Given the description of an element on the screen output the (x, y) to click on. 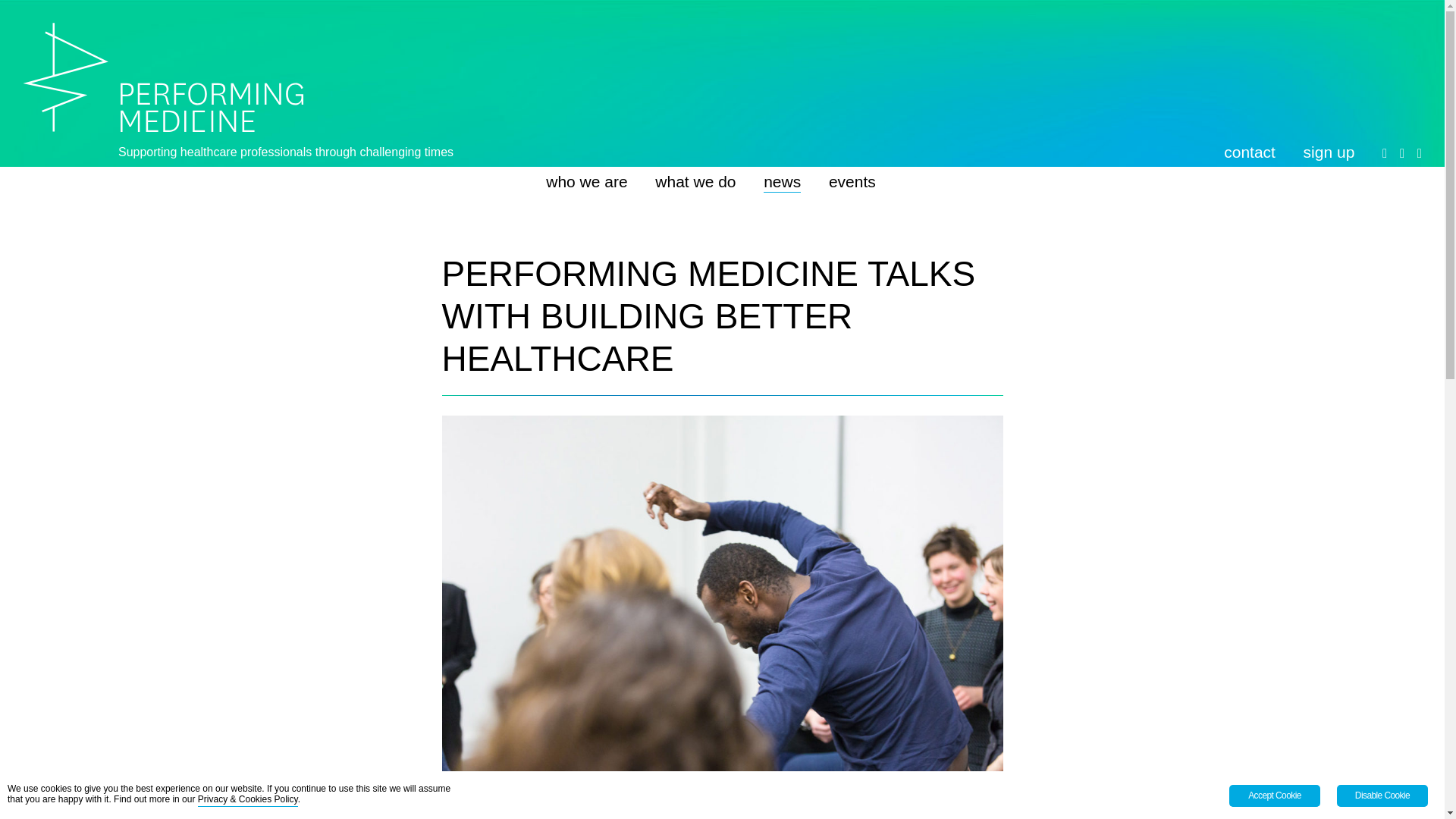
what we do (695, 181)
who we are (586, 181)
sign up (1329, 152)
contact (1249, 152)
